Given the description of an element on the screen output the (x, y) to click on. 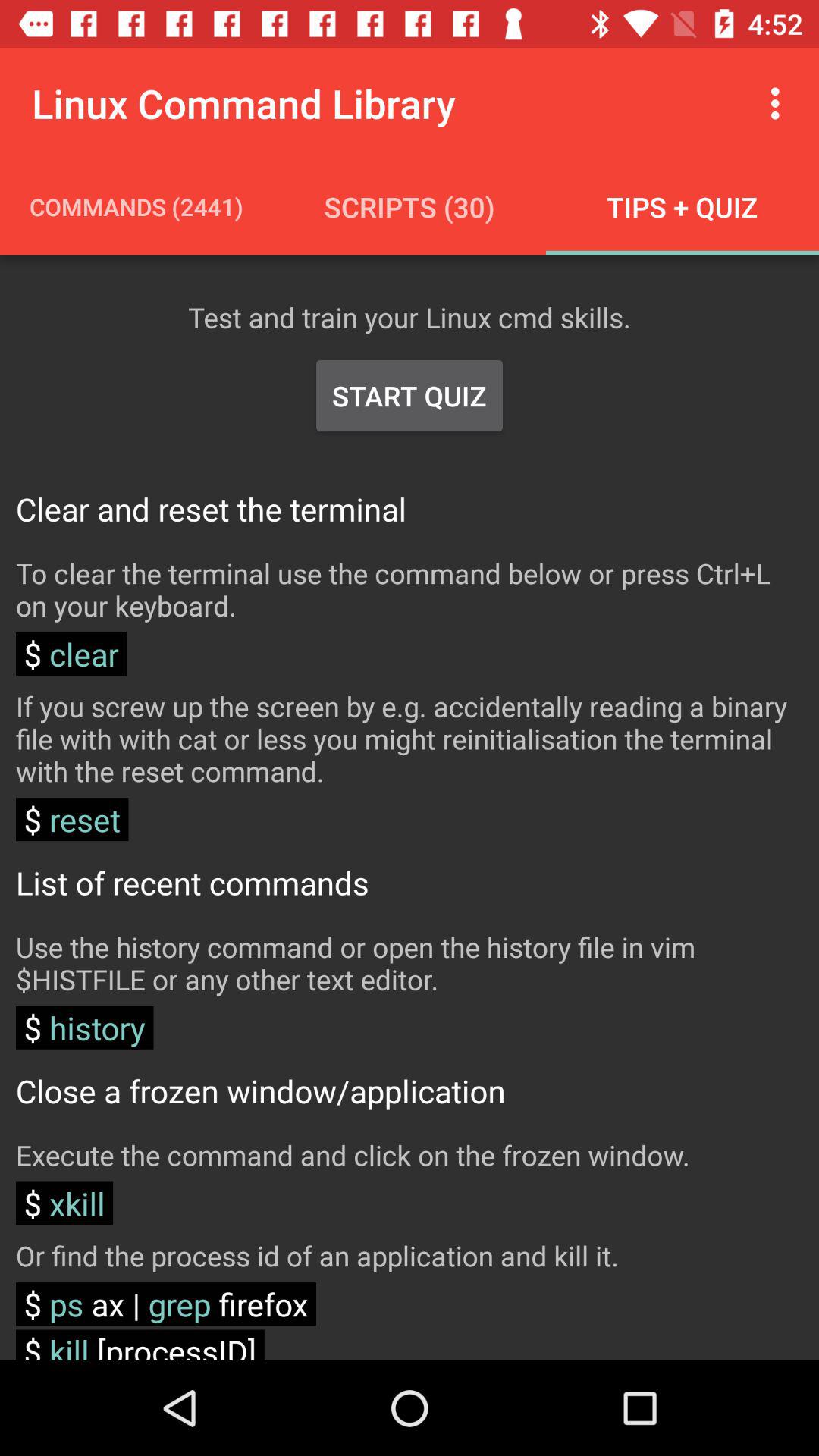
choose start quiz icon (409, 395)
